Given the description of an element on the screen output the (x, y) to click on. 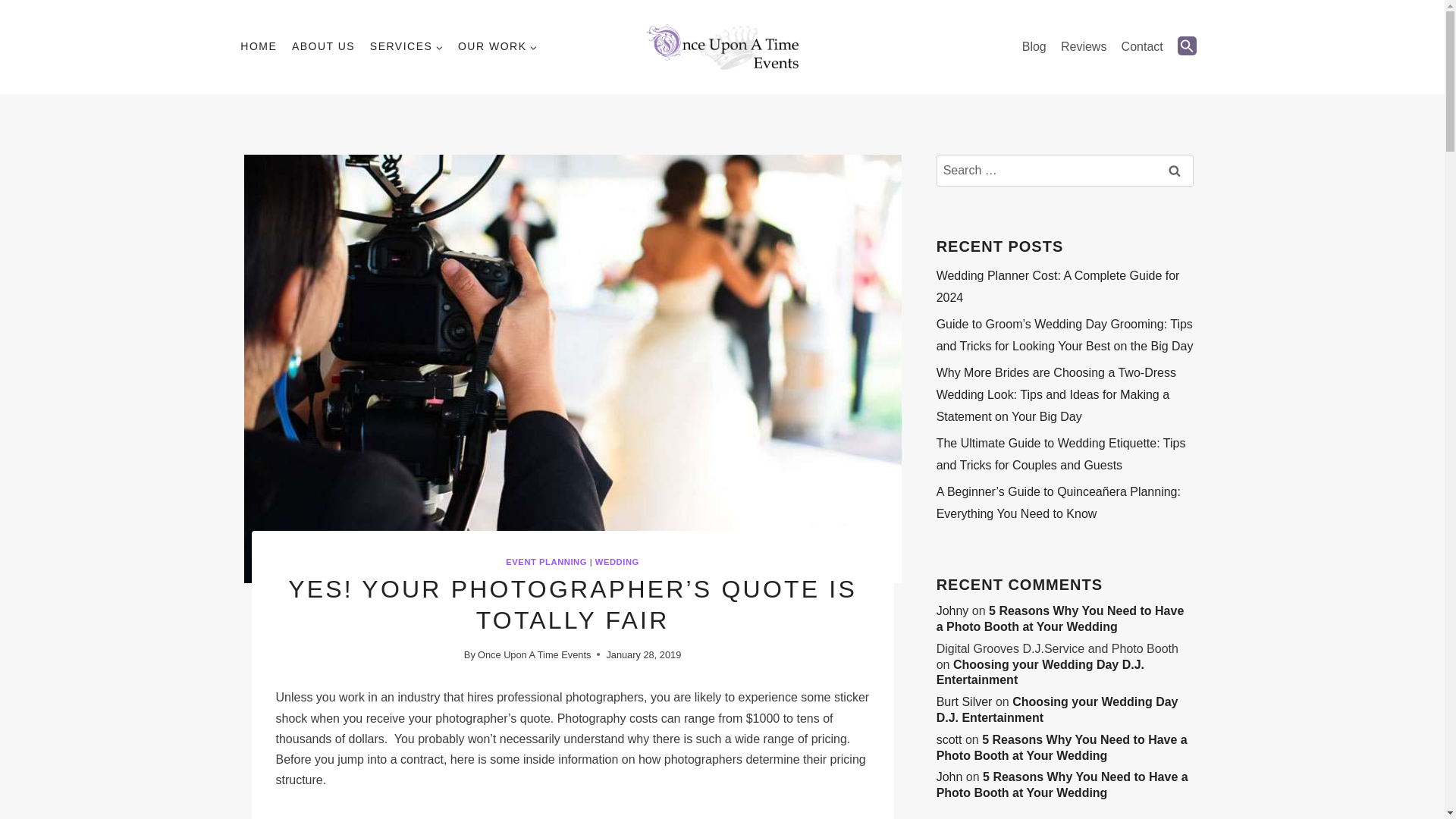
Blog (1033, 46)
OUR WORK (496, 47)
Contact (1141, 46)
ABOUT US (322, 47)
Reviews (1082, 46)
Search (1174, 170)
HOME (258, 47)
Search (1174, 170)
WEDDING (617, 561)
SERVICES (405, 47)
